Given the description of an element on the screen output the (x, y) to click on. 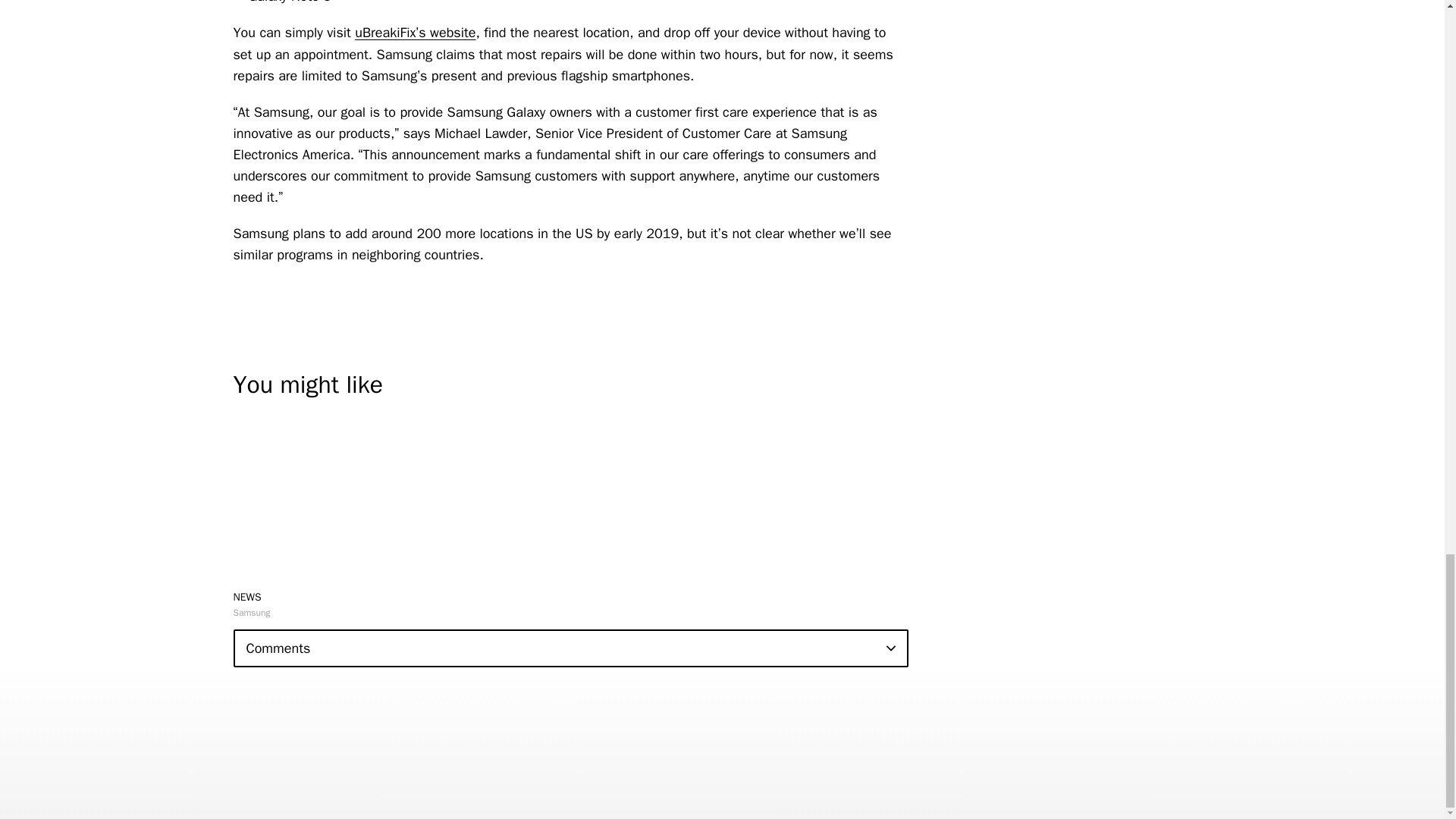
Comments (570, 648)
NEWS (247, 596)
Samsung (251, 612)
